Given the description of an element on the screen output the (x, y) to click on. 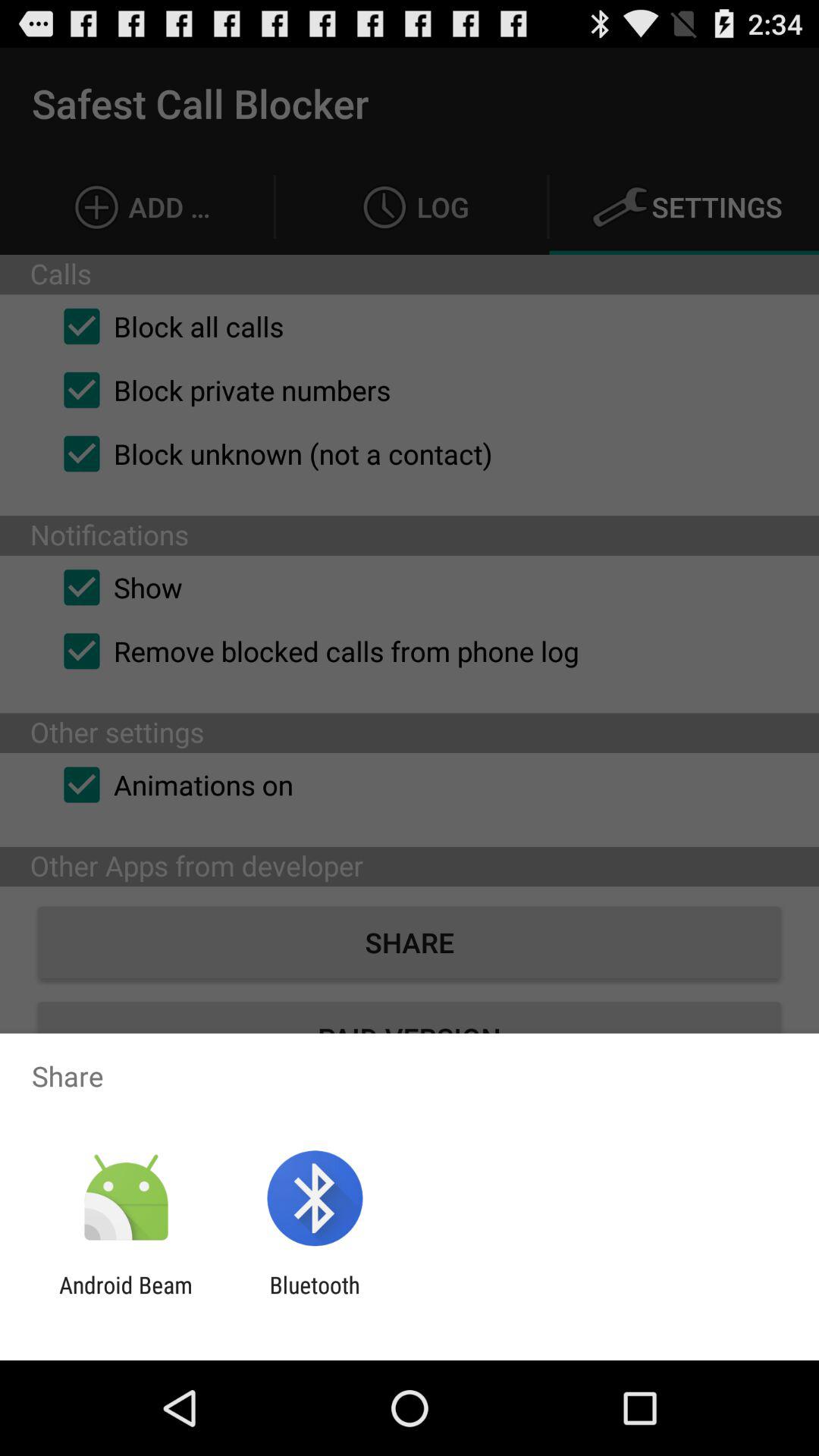
press item to the left of bluetooth (125, 1298)
